Given the description of an element on the screen output the (x, y) to click on. 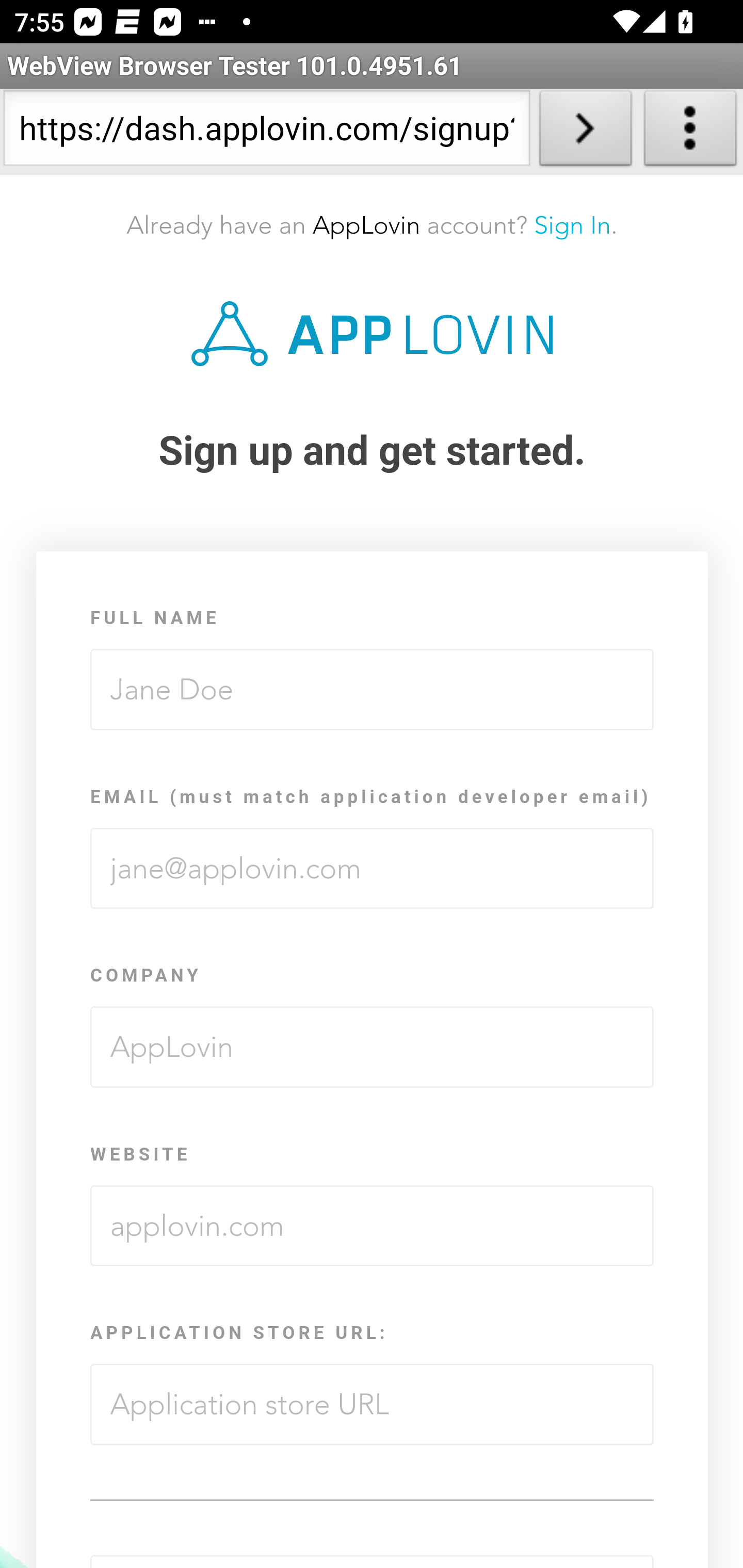
Load URL (585, 132)
About WebView (690, 132)
Sign In (572, 224)
AppLovin Logo (371, 332)
